Given the description of an element on the screen output the (x, y) to click on. 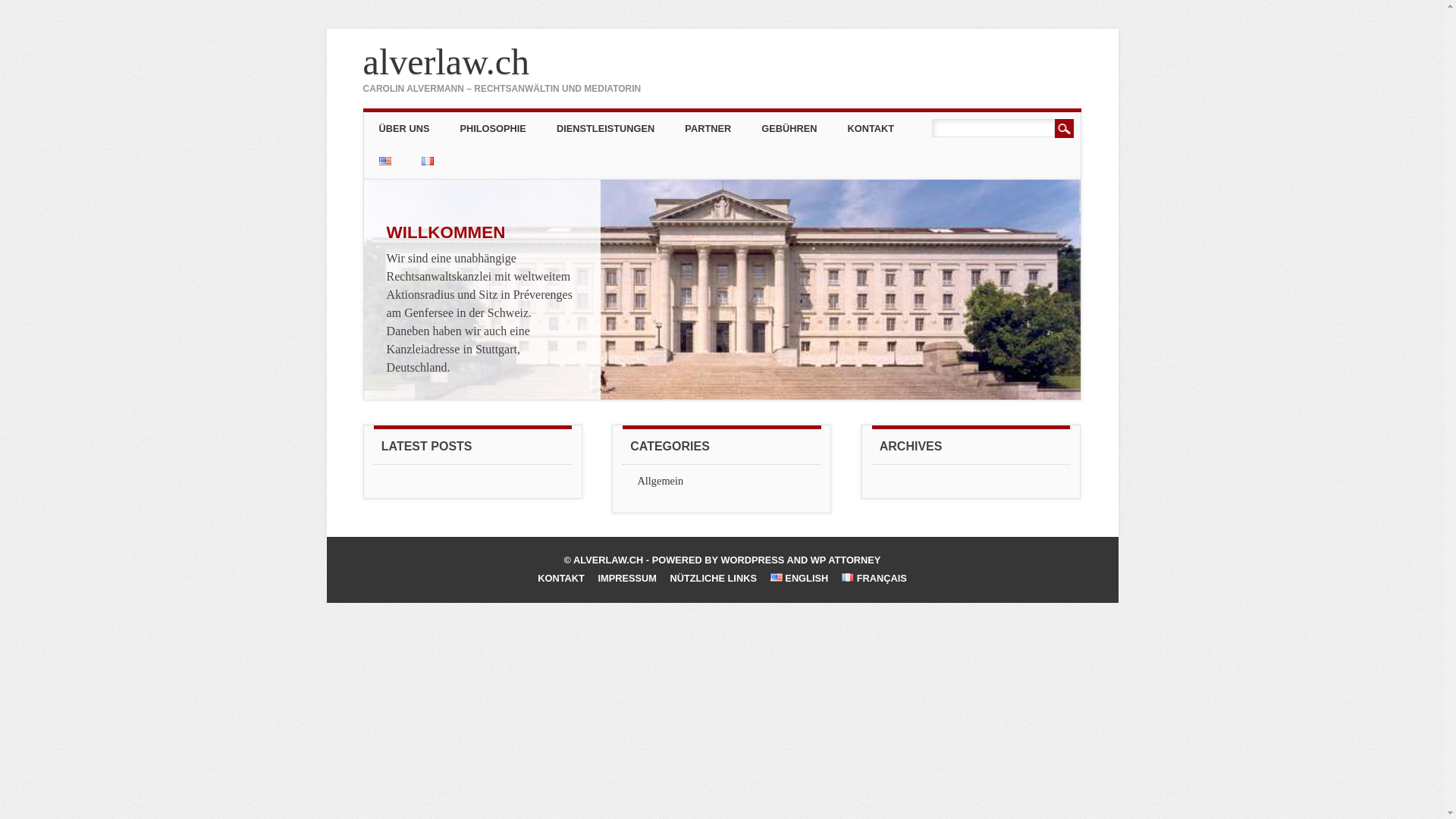
IMPRESSUM Element type: text (626, 577)
DIENSTLEISTUNGEN Element type: text (605, 128)
PARTNER Element type: text (707, 128)
KONTAKT Element type: text (560, 577)
PHILOSOPHIE Element type: text (492, 128)
ENGLISH Element type: text (799, 577)
KONTAKT Element type: text (870, 128)
Suche Element type: text (1063, 128)
WP ATTORNEY Element type: text (845, 559)
WORDPRESS Element type: text (752, 559)
Allgemein Element type: text (660, 480)
alverlaw.ch Element type: text (446, 61)
